Given the description of an element on the screen output the (x, y) to click on. 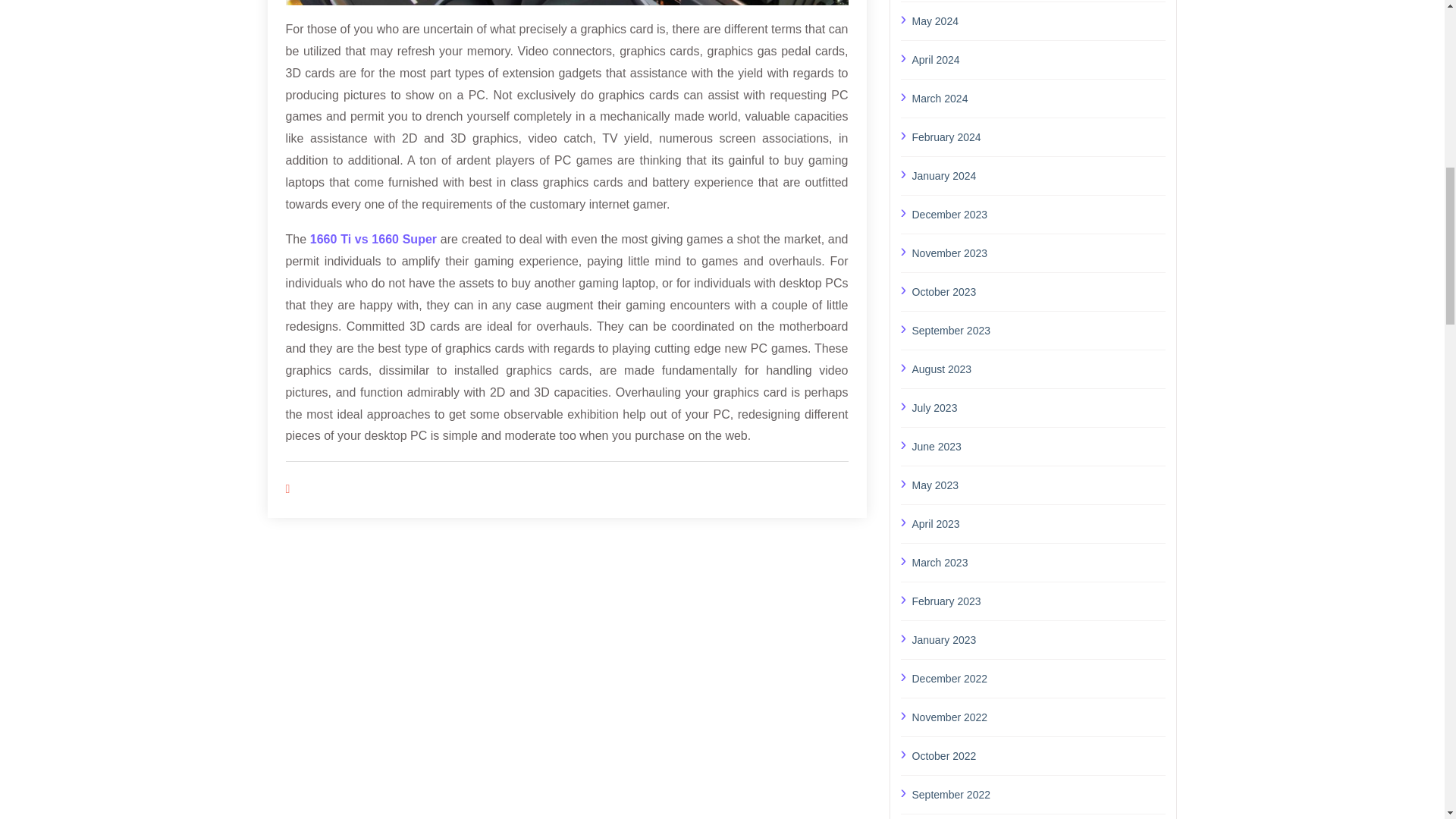
June 2023 (1038, 446)
February 2024 (1038, 137)
May 2023 (1038, 484)
January 2024 (1038, 175)
November 2022 (1038, 716)
September 2023 (1038, 329)
May 2024 (1038, 20)
October 2022 (1038, 755)
April 2024 (1038, 59)
February 2023 (1038, 600)
October 2023 (1038, 291)
April 2023 (1038, 523)
1660 Ti vs 1660 Super (373, 238)
March 2023 (1038, 561)
January 2023 (1038, 639)
